Given the description of an element on the screen output the (x, y) to click on. 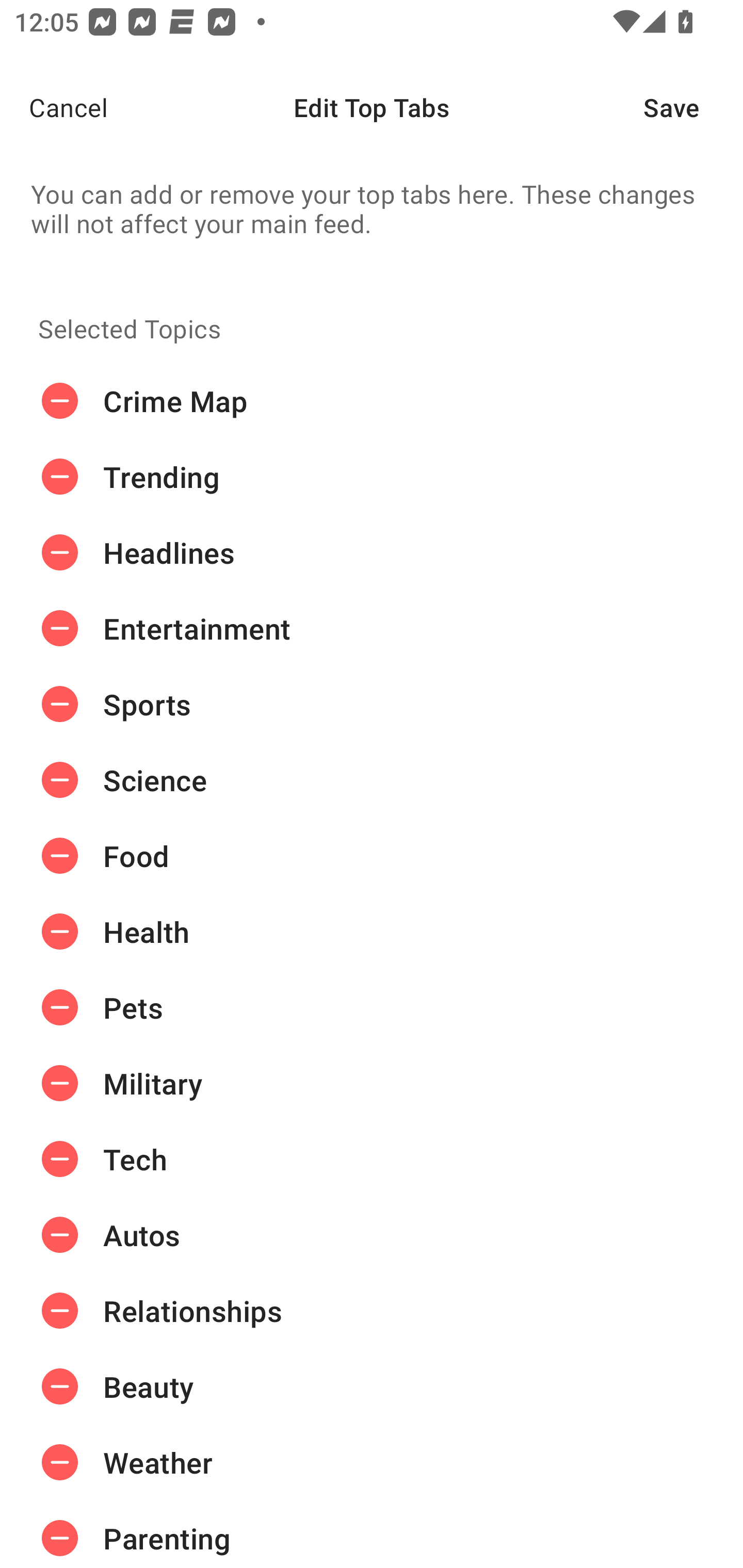
Cancel (53, 106)
Save (693, 106)
Crime Map (371, 401)
Trending (371, 476)
Headlines (371, 552)
Entertainment (371, 628)
Sports (371, 703)
Science (371, 779)
Food (371, 855)
Health (371, 931)
Pets (371, 1007)
Military (371, 1083)
Tech (371, 1158)
Autos (371, 1234)
Relationships (371, 1310)
Beauty (371, 1386)
Weather (371, 1462)
Parenting (371, 1534)
